Given the description of an element on the screen output the (x, y) to click on. 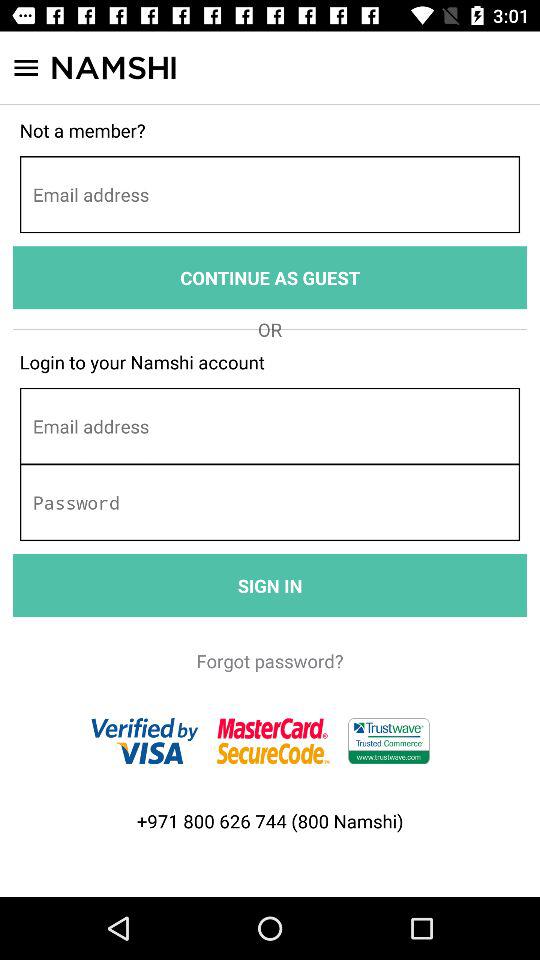
turn on the item above the forgot password? (269, 585)
